Given the description of an element on the screen output the (x, y) to click on. 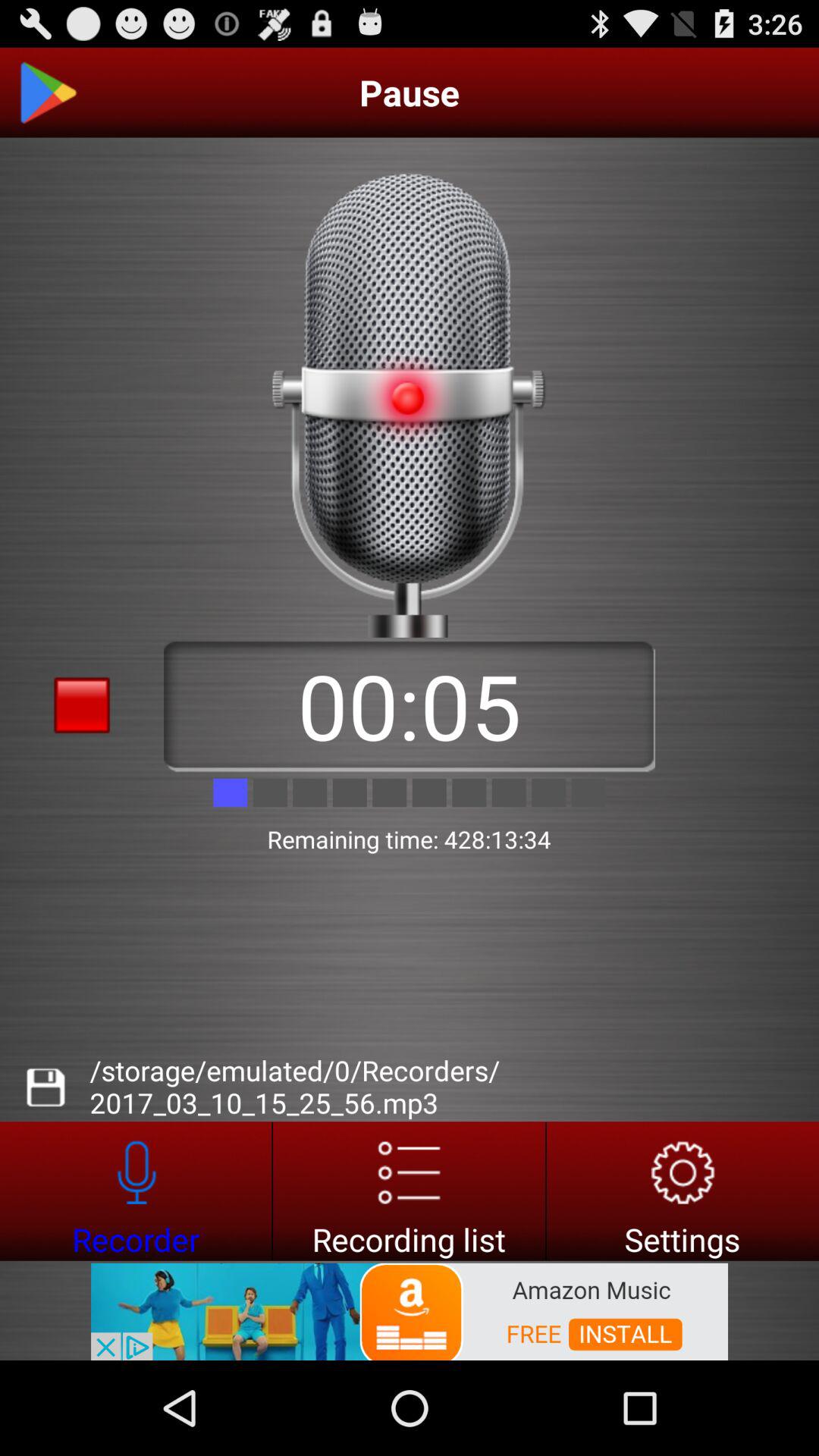
pause button (47, 92)
